Given the description of an element on the screen output the (x, y) to click on. 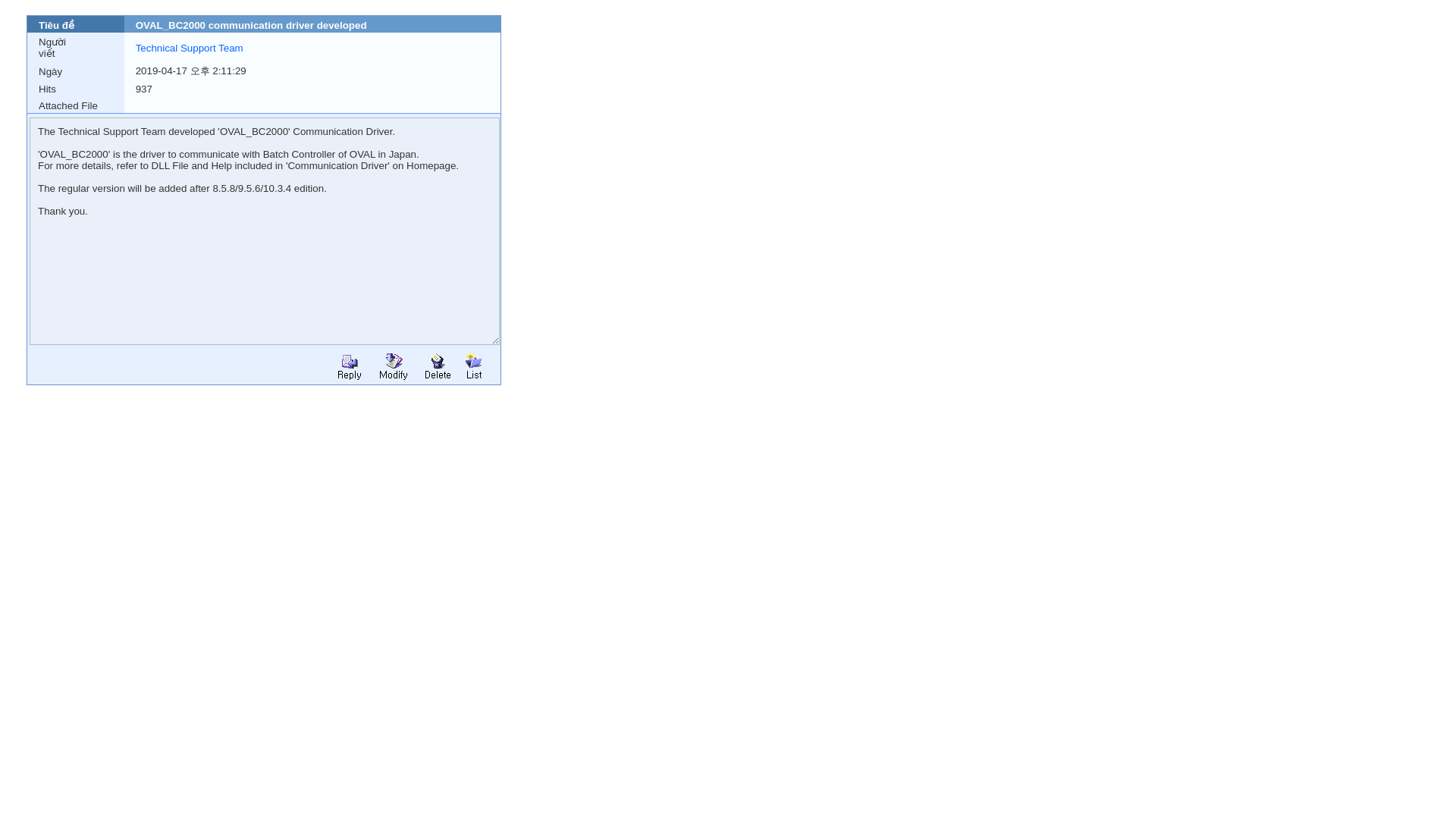
Technical Support Team (189, 48)
